Given the description of an element on the screen output the (x, y) to click on. 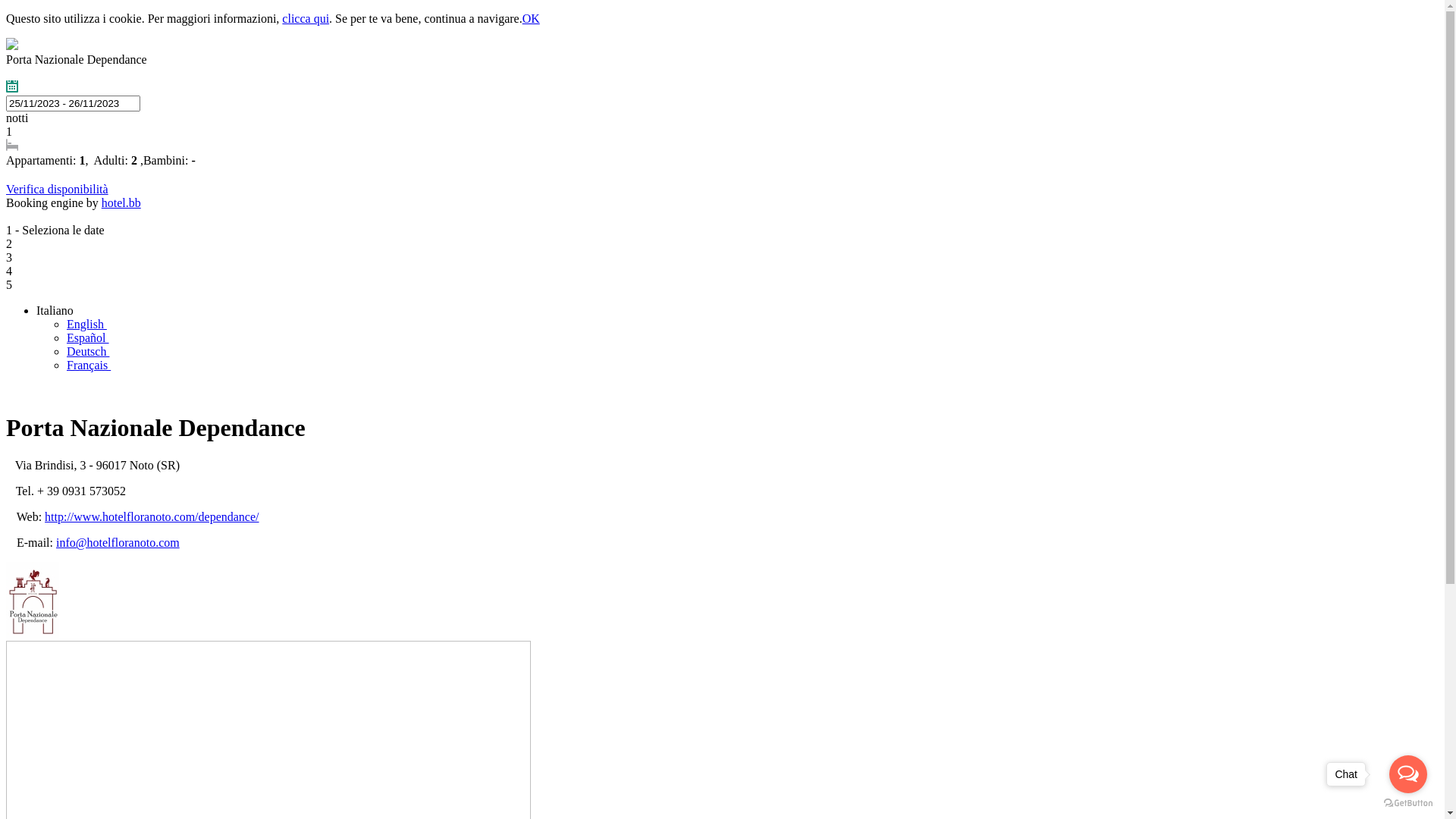
clicca qui Element type: text (305, 18)
http://www.hotelfloranoto.com/dependance/ Element type: hover (20, 72)
hotel.bb Element type: text (121, 202)
info@hotelfloranoto.com Element type: hover (30, 72)
info@hotelfloranoto.com Element type: text (117, 542)
English Element type: text (92, 323)
Via Brindisi, 3  -  96017 Noto (SR) Element type: hover (41, 73)
Tel. + 39 0931 573052 Element type: hover (9, 73)
OK Element type: text (530, 18)
http://www.hotelfloranoto.com/dependance/ Element type: text (151, 516)
Deutsch Element type: text (93, 351)
